Given the description of an element on the screen output the (x, y) to click on. 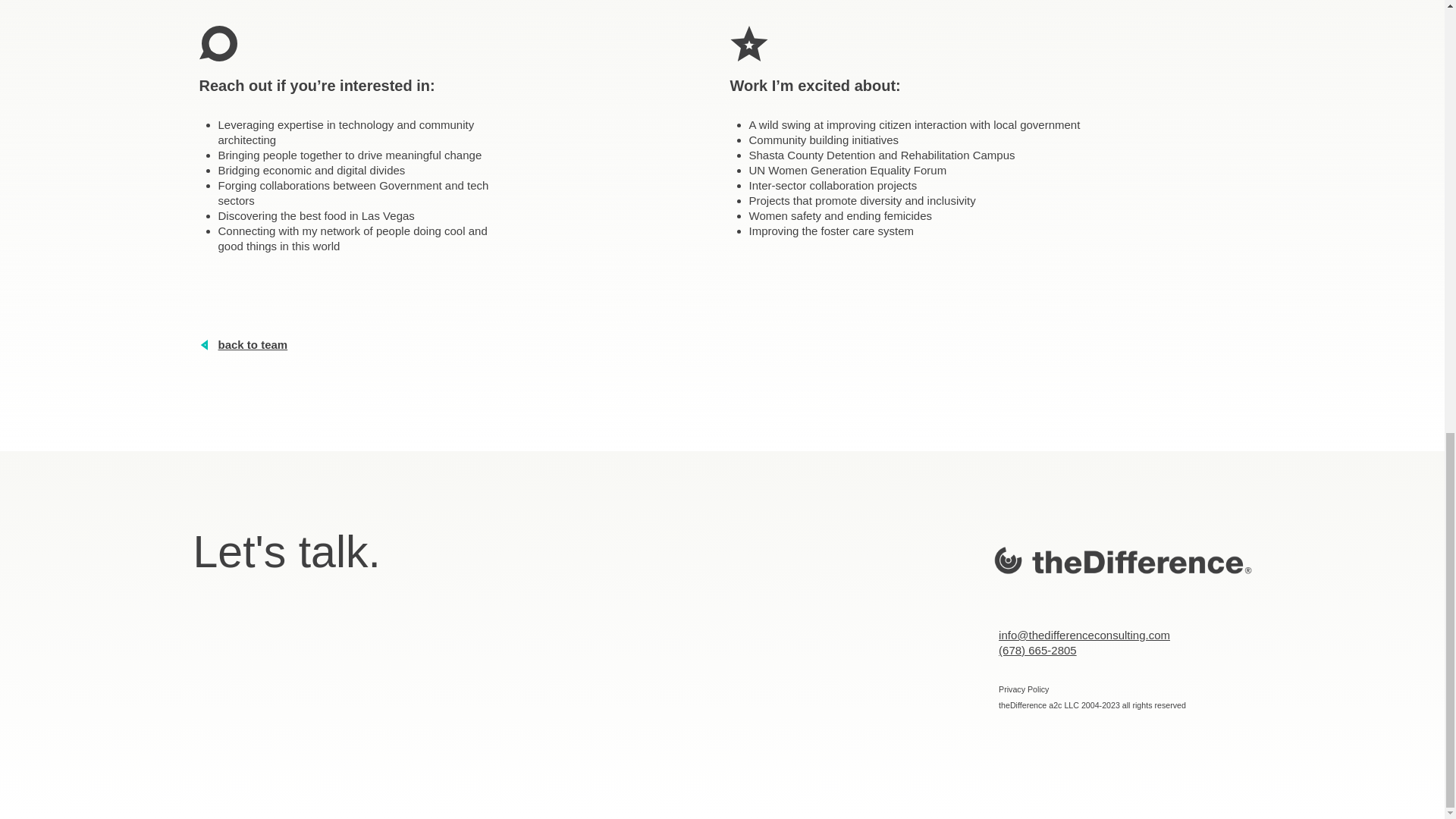
back to team (456, 344)
Privacy Policy (1023, 688)
